Given the description of an element on the screen output the (x, y) to click on. 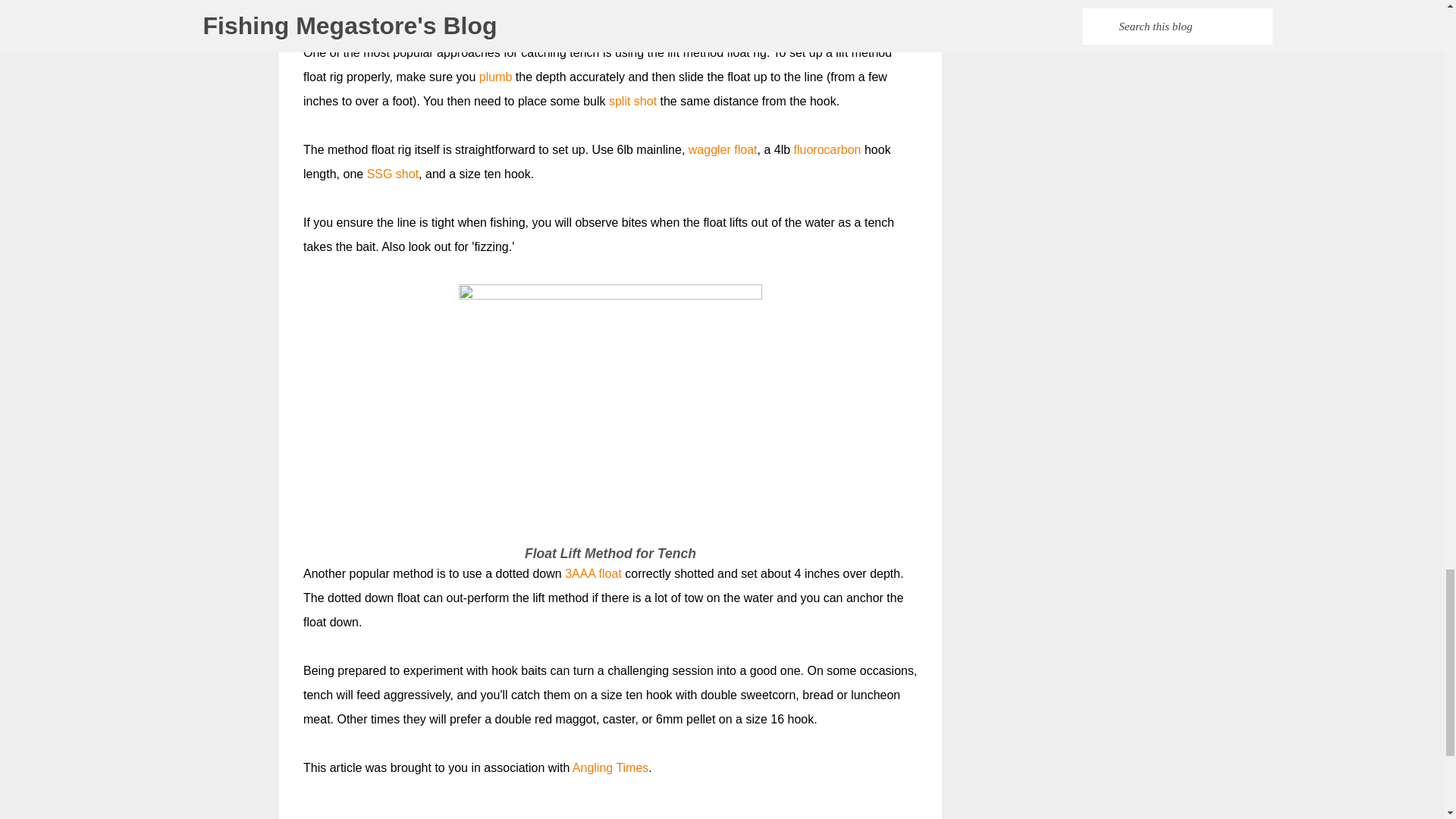
fluorocarbon (827, 149)
SSG shot (392, 173)
3AAA float (592, 573)
split shot (632, 101)
Angling Times (610, 767)
waggler float (722, 149)
Email Post (311, 816)
plumb (495, 76)
